Given the description of an element on the screen output the (x, y) to click on. 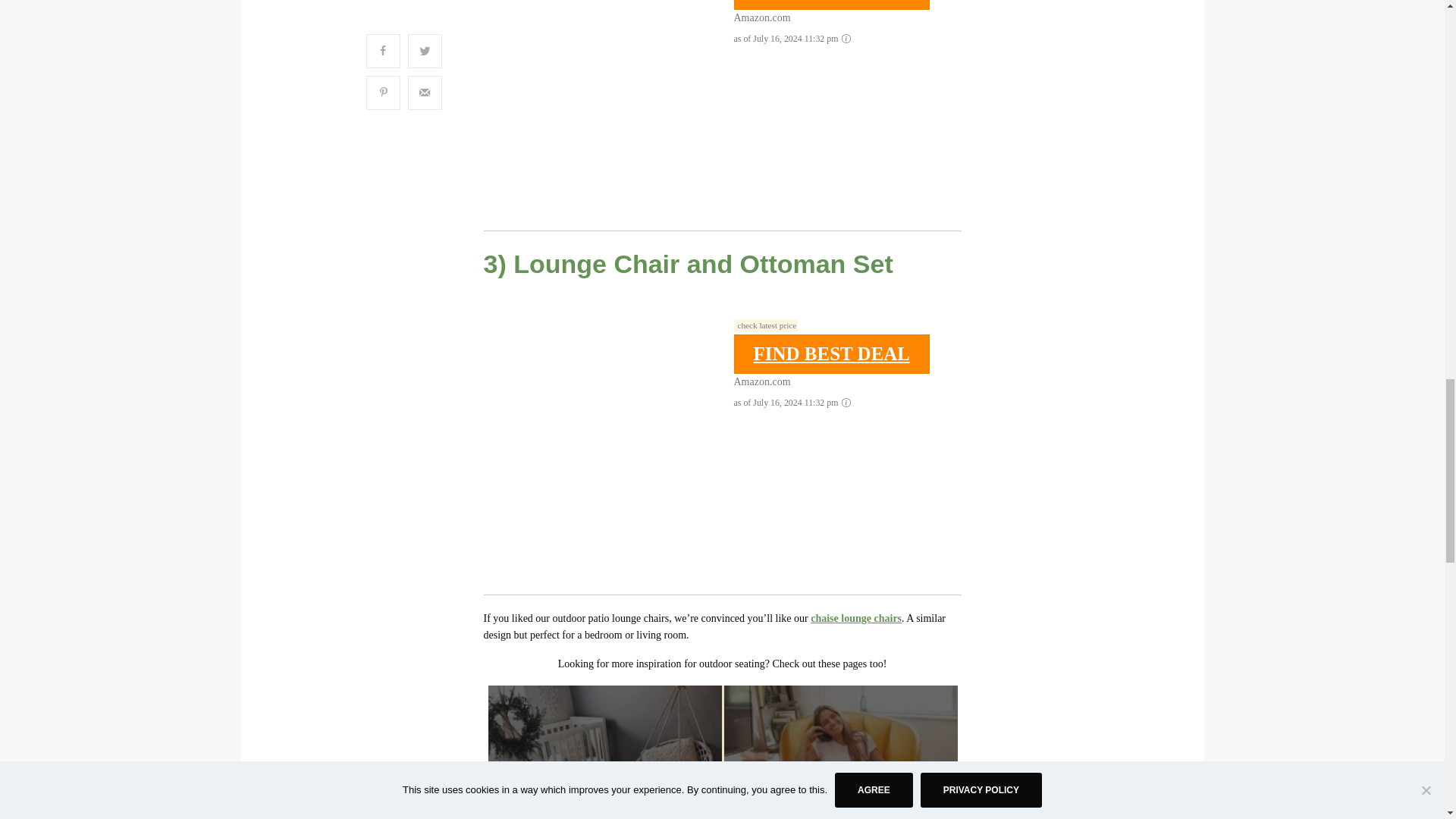
Last updated on July 16, 2024 11:32 pm (765, 325)
